Given the description of an element on the screen output the (x, y) to click on. 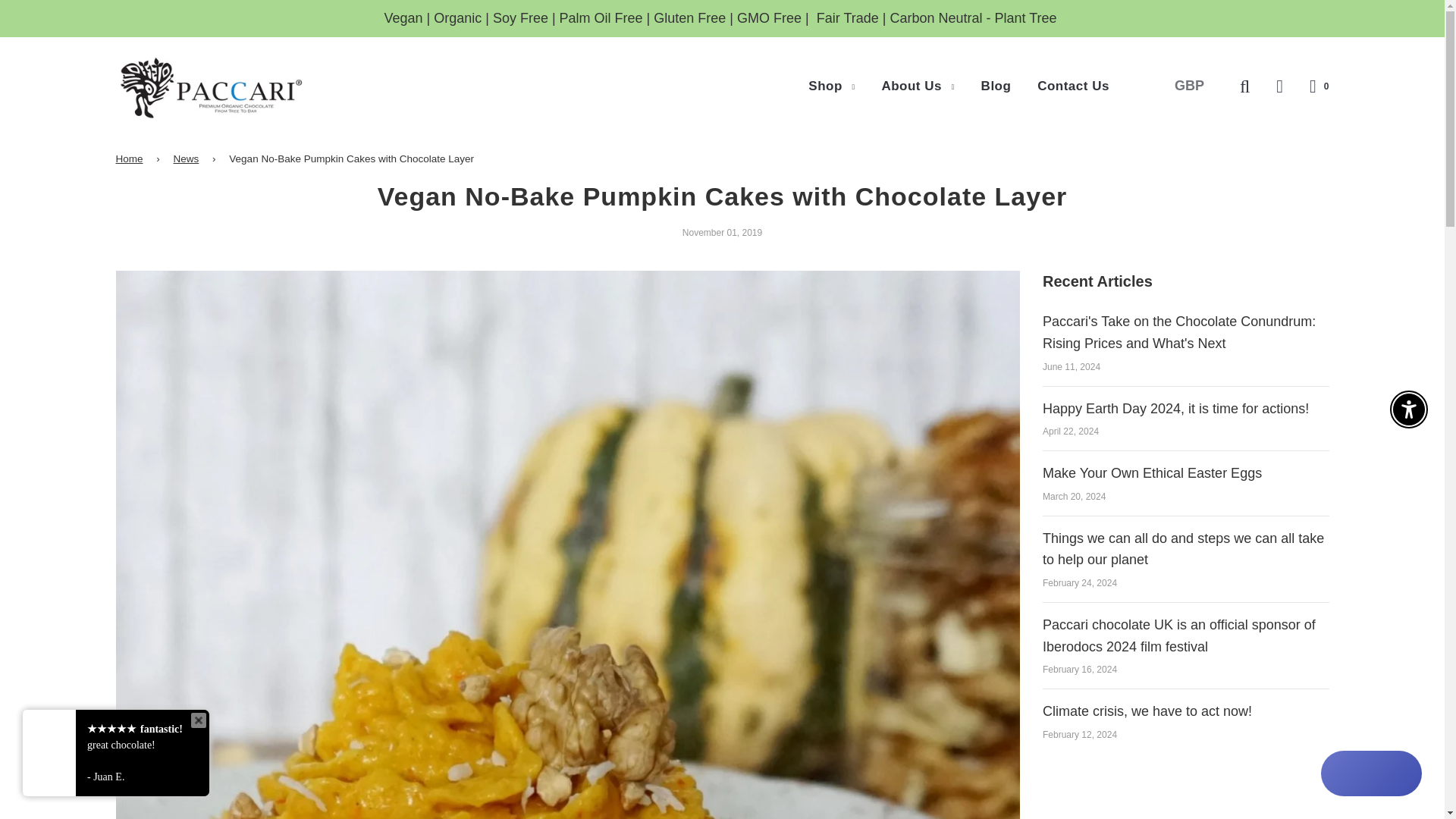
Log in (1279, 85)
Shop (831, 85)
Back to the frontpage (131, 158)
